Given the description of an element on the screen output the (x, y) to click on. 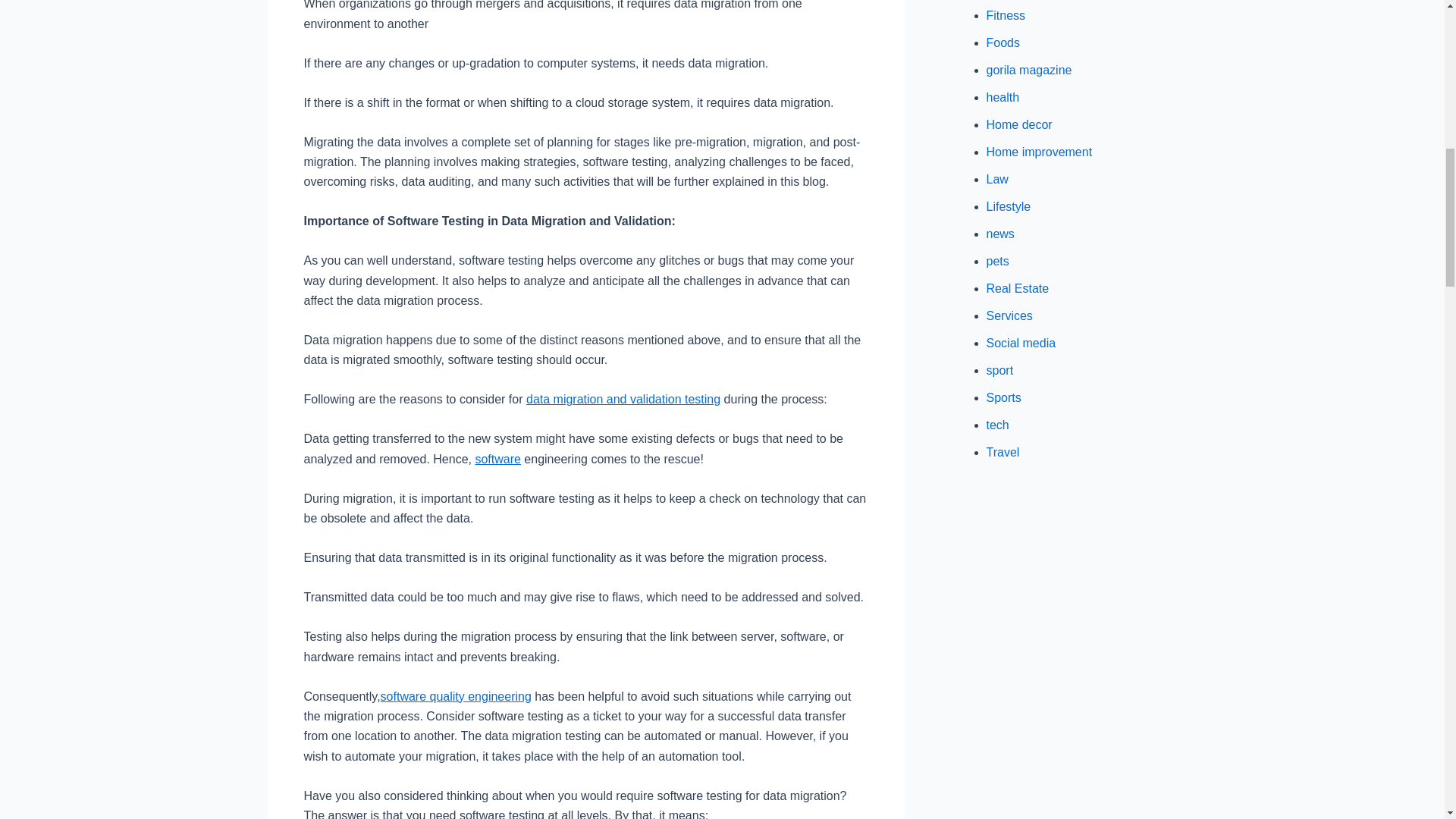
software quality engineering (455, 696)
data migration and validation testing (622, 399)
software (496, 459)
